Given the description of an element on the screen output the (x, y) to click on. 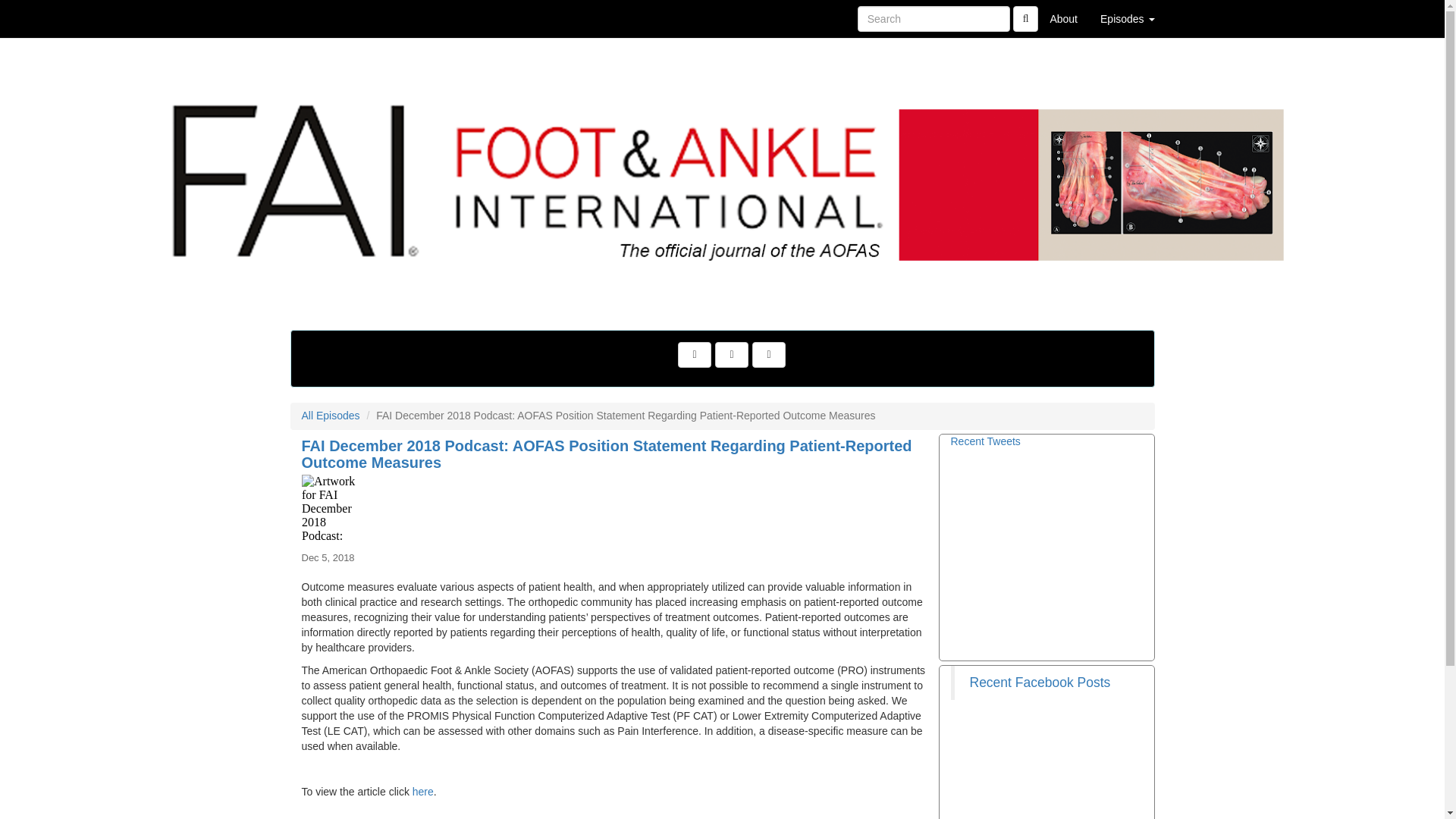
About (1063, 18)
Home Page (320, 18)
Episodes (1127, 18)
